Given the description of an element on the screen output the (x, y) to click on. 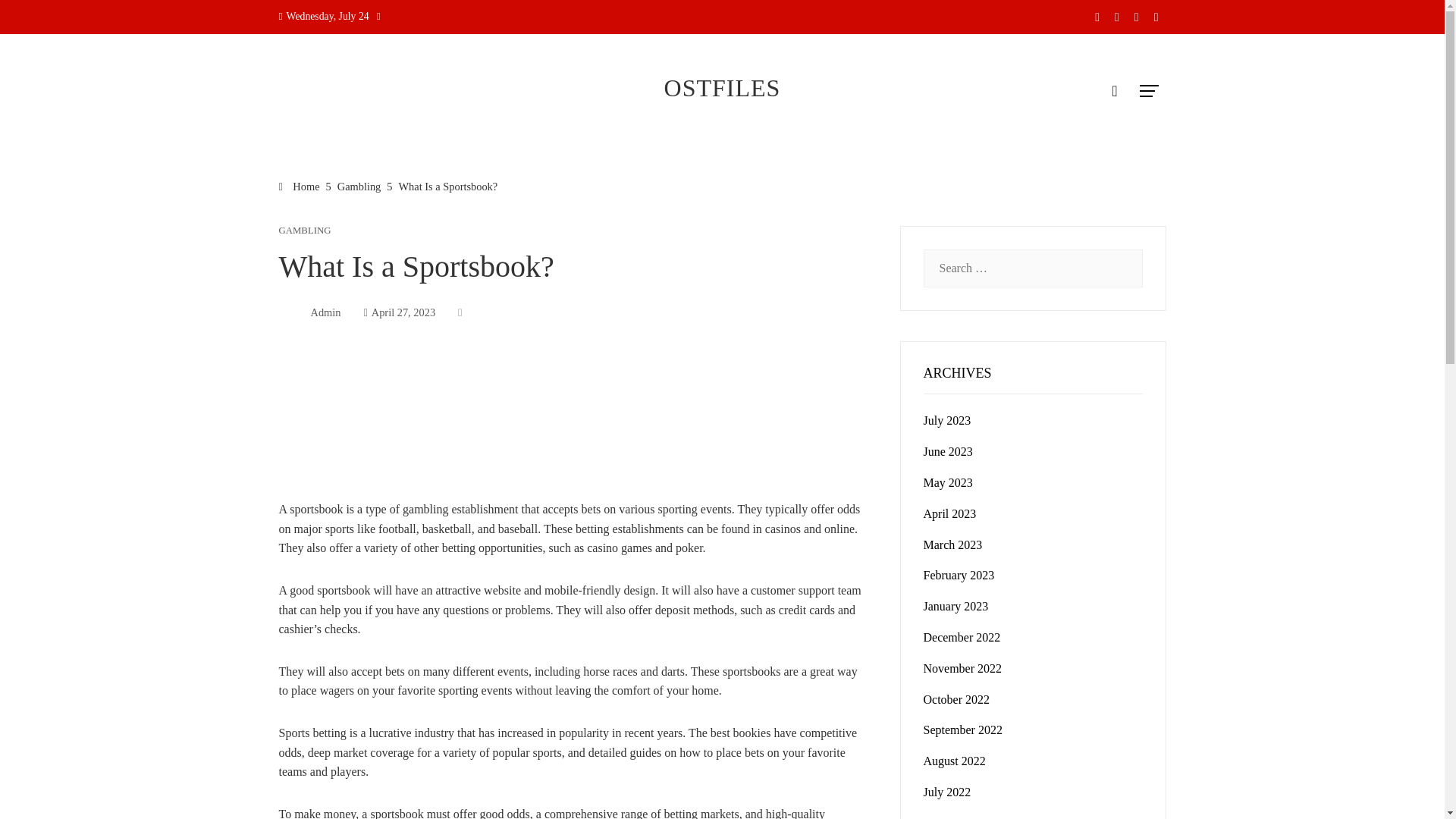
Search (35, 18)
February 2023 (958, 574)
January 2023 (955, 605)
August 2022 (954, 760)
OSTFILES (721, 87)
November 2022 (963, 667)
July 2022 (947, 791)
GAMBLING (305, 230)
April 2023 (949, 513)
December 2022 (962, 636)
Gambling (359, 186)
Home (299, 186)
May 2023 (947, 481)
June 2022 (947, 817)
July 2023 (947, 420)
